Given the description of an element on the screen output the (x, y) to click on. 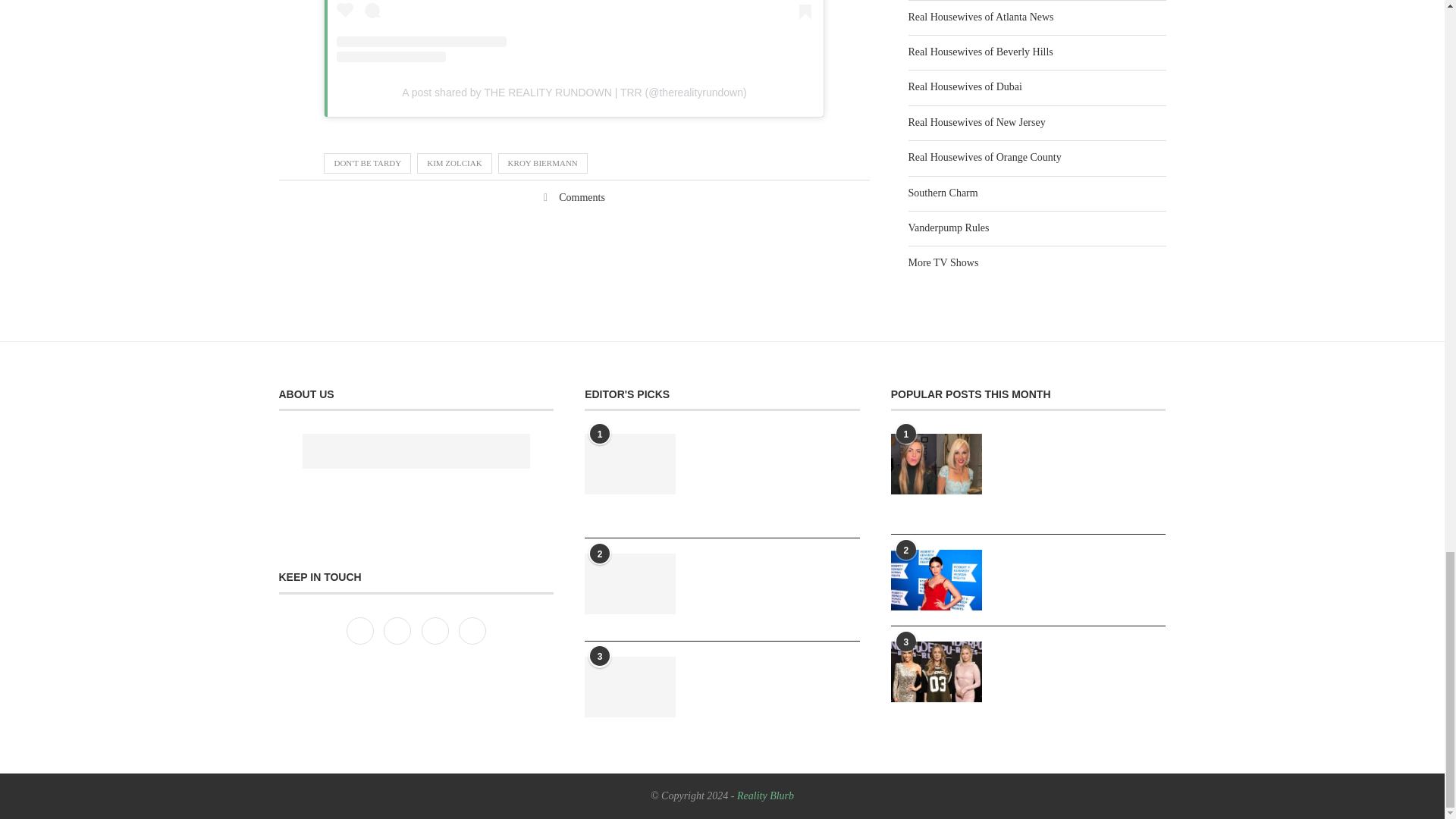
KROY BIERMANN (542, 162)
DON'T BE TARDY (366, 162)
View this post on Instagram (573, 31)
KIM ZOLCIAK (454, 162)
